Given the description of an element on the screen output the (x, y) to click on. 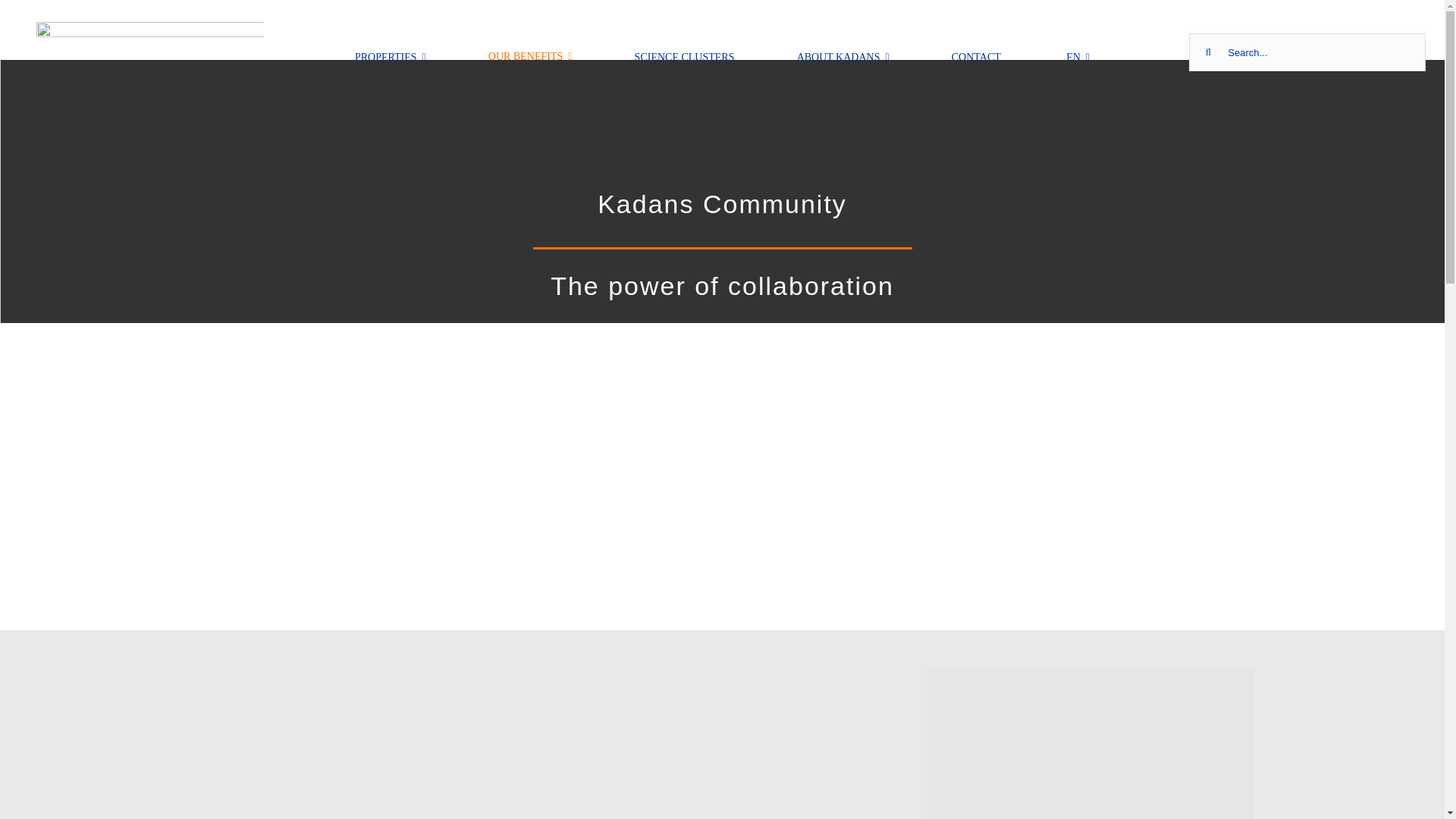
EN (1075, 52)
EN (1075, 52)
CONTACT (976, 52)
ABOUT KADANS (842, 52)
PROPERTIES (390, 52)
SCIENCE CLUSTERS (684, 52)
OUR BENEFITS (529, 52)
